Given the description of an element on the screen output the (x, y) to click on. 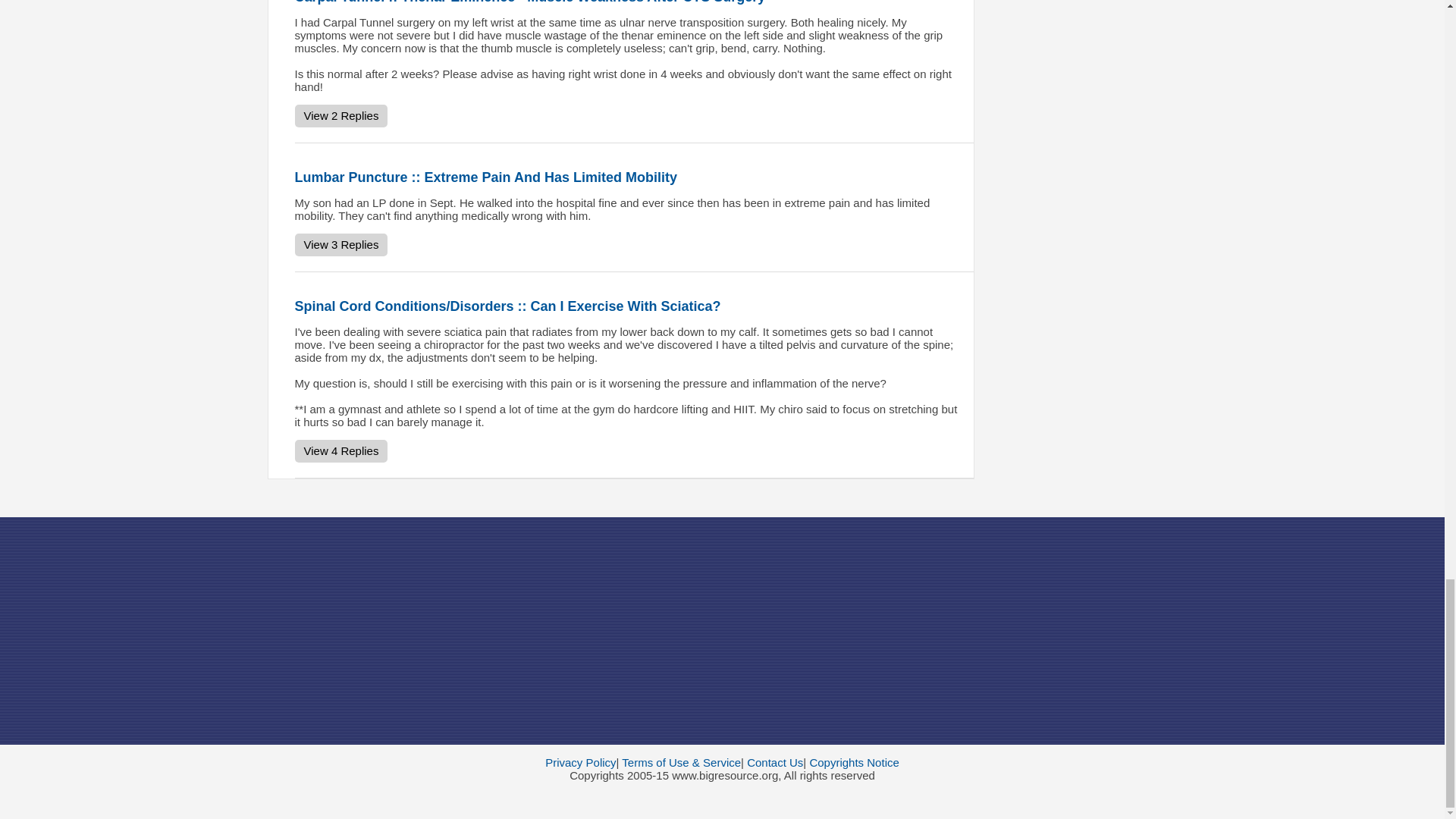
Lumbar Puncture :: Extreme Pain And Has Limited Mobility (485, 177)
Contact Us (774, 762)
View 2 Replies (340, 115)
Privacy Policy (579, 762)
View 3 Replies (340, 244)
Copyrights Notice (853, 762)
View 4 Replies (340, 450)
